Given the description of an element on the screen output the (x, y) to click on. 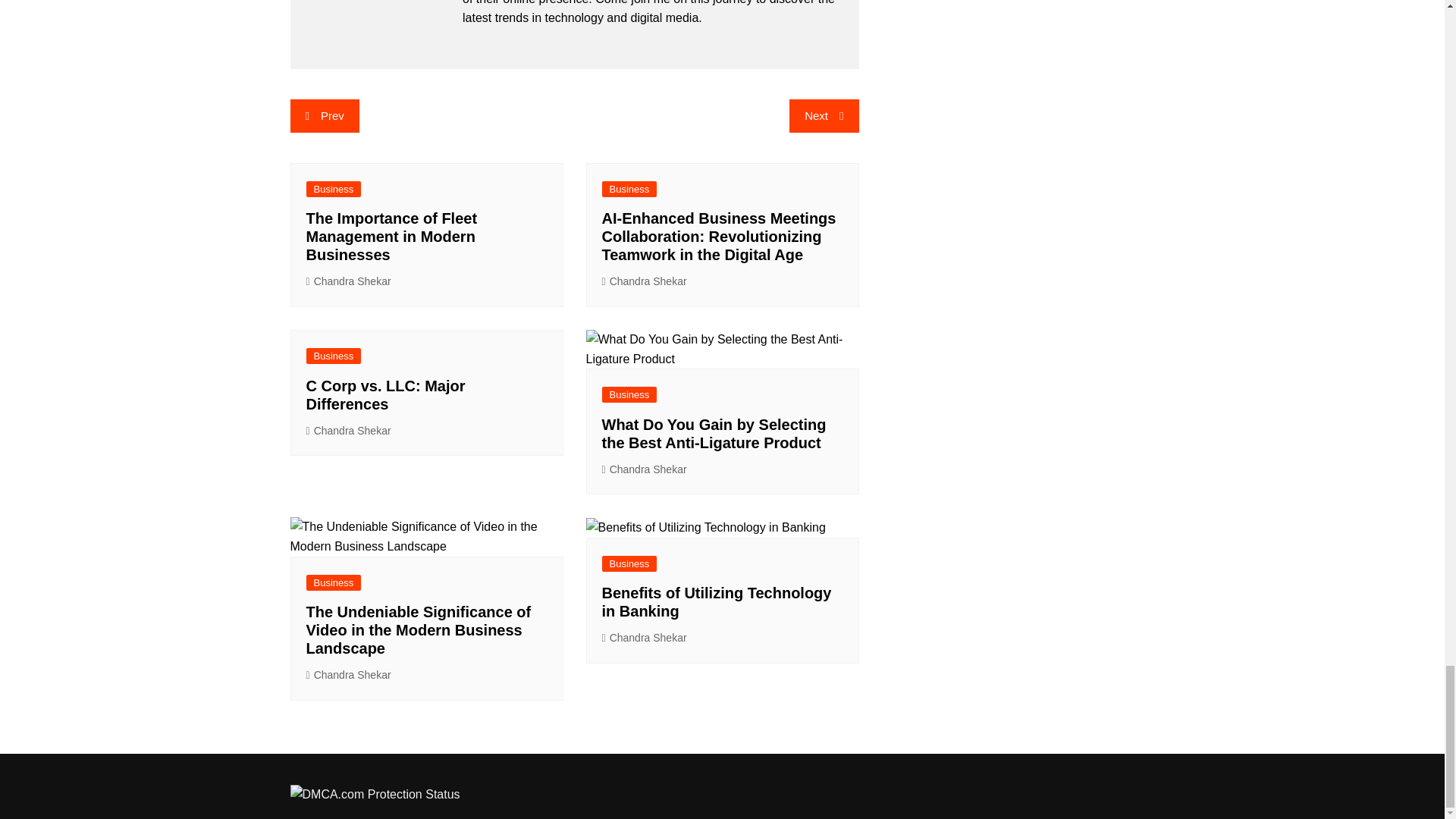
Chandra Shekar (348, 674)
Next (824, 115)
What Do You Gain by Selecting the Best Anti-Ligature Product (714, 433)
Business (630, 563)
Chandra Shekar (348, 281)
Benefits of Utilizing Technology in Banking (716, 601)
Business (630, 188)
DMCA.com Protection Status (374, 793)
Prev (323, 115)
Chandra Shekar (644, 469)
Business (630, 394)
Chandra Shekar (644, 281)
C Corp vs. LLC: Major Differences (385, 394)
Business (333, 355)
